Given the description of an element on the screen output the (x, y) to click on. 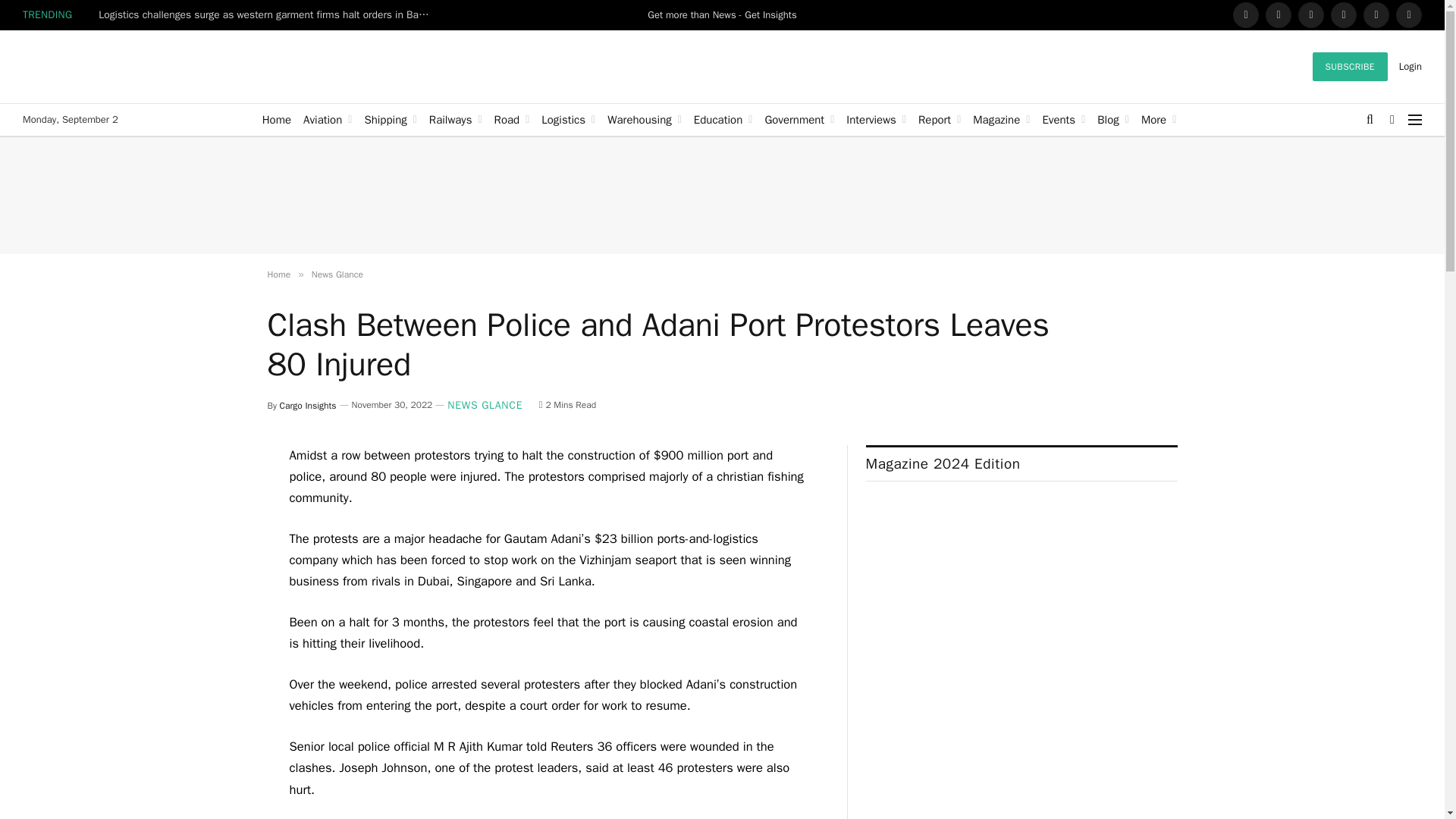
Facebook (1246, 14)
Aviation (327, 119)
Instagram (1343, 14)
YouTube (1409, 14)
Pinterest (1375, 14)
Login (1410, 65)
LinkedIn (1310, 14)
Home (276, 119)
Cargo Insights (136, 66)
SUBSCRIBE (1350, 66)
